Given the description of an element on the screen output the (x, y) to click on. 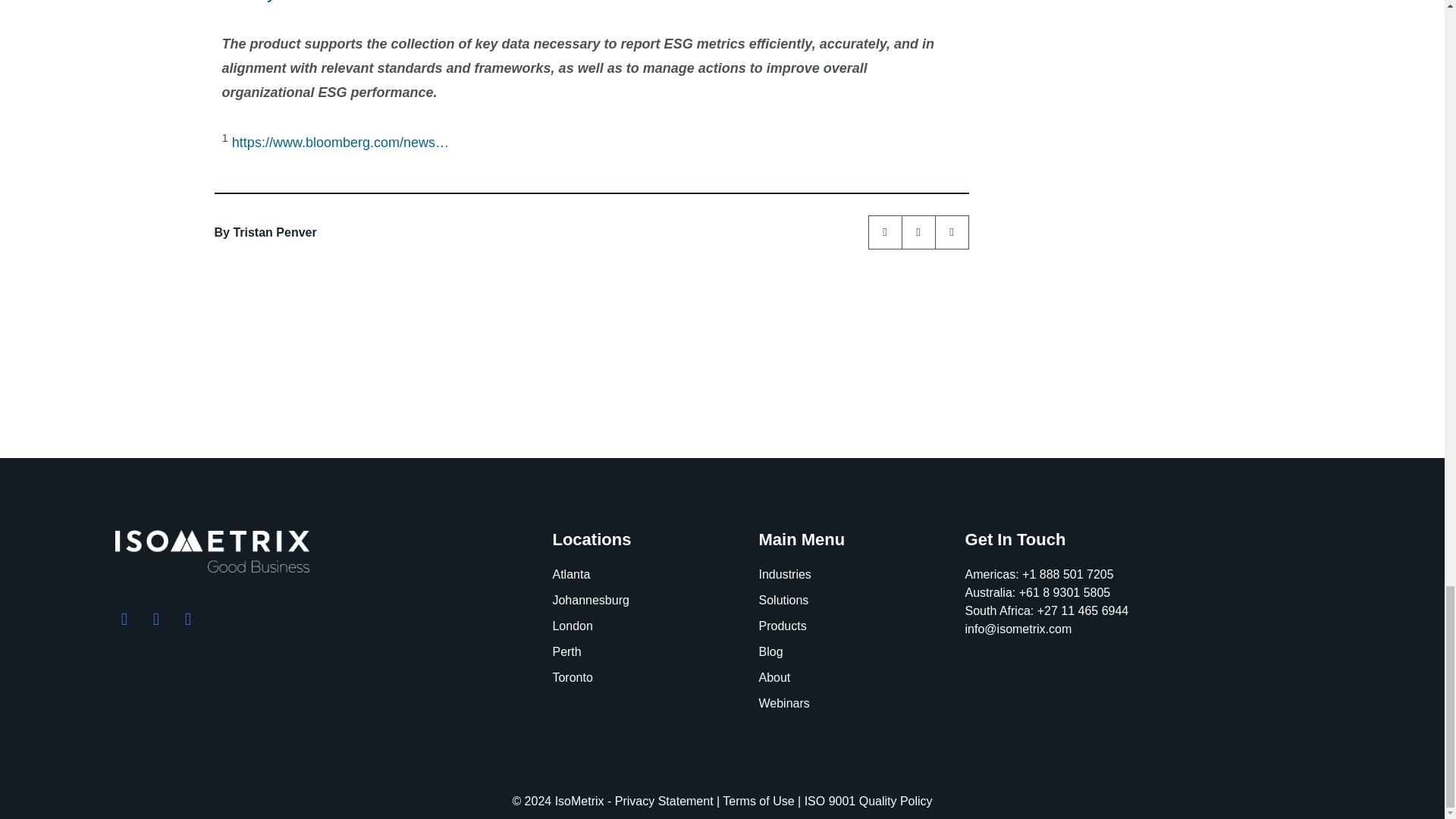
Twitter (885, 232)
LinkedIn (918, 232)
Youtube (952, 232)
